Given the description of an element on the screen output the (x, y) to click on. 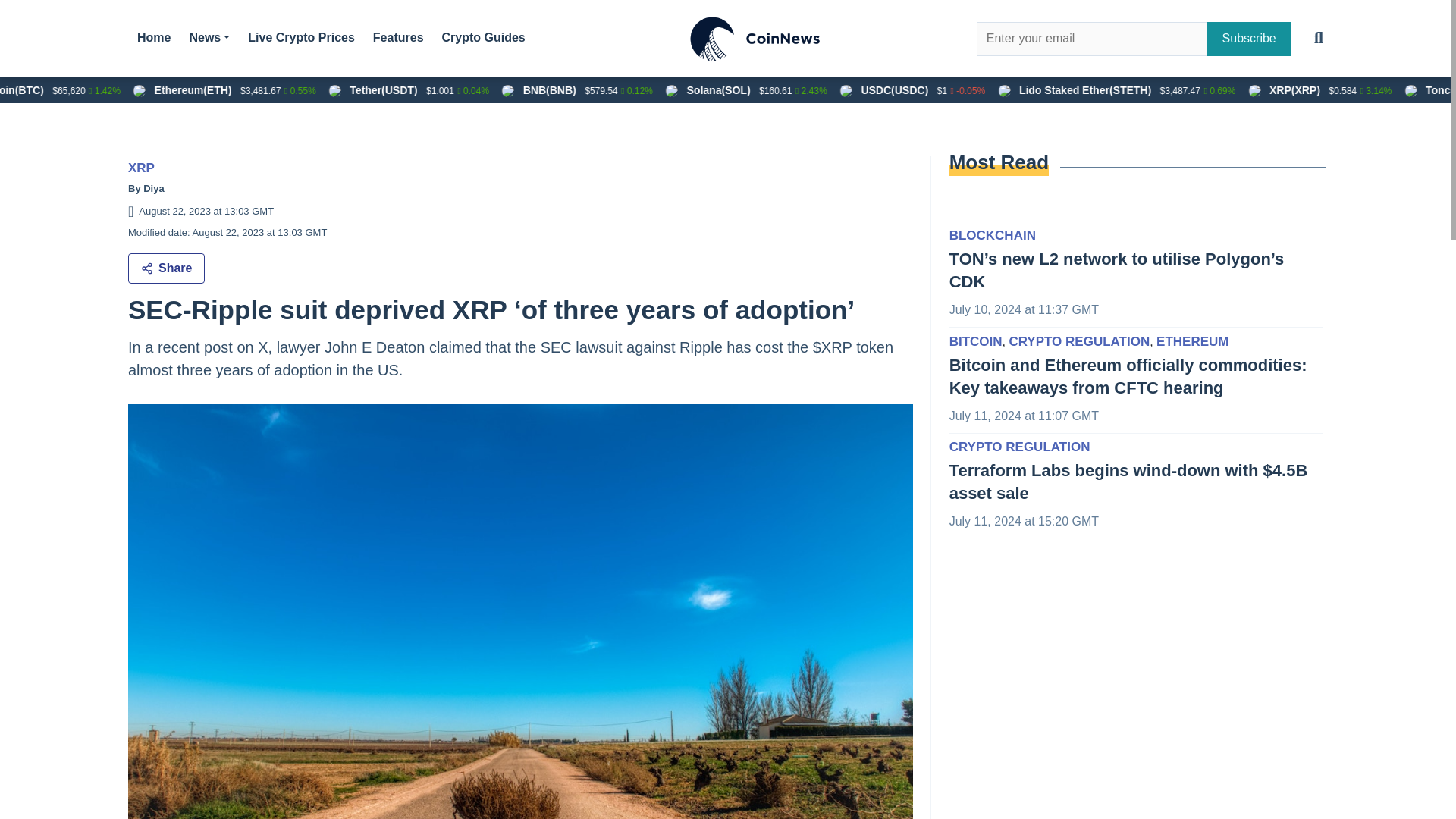
News (209, 37)
Features (397, 37)
Subscribe (1249, 39)
Live Crypto Prices (301, 37)
Crypto Guides (483, 37)
Home (153, 37)
Subscribe (1249, 39)
